Given the description of an element on the screen output the (x, y) to click on. 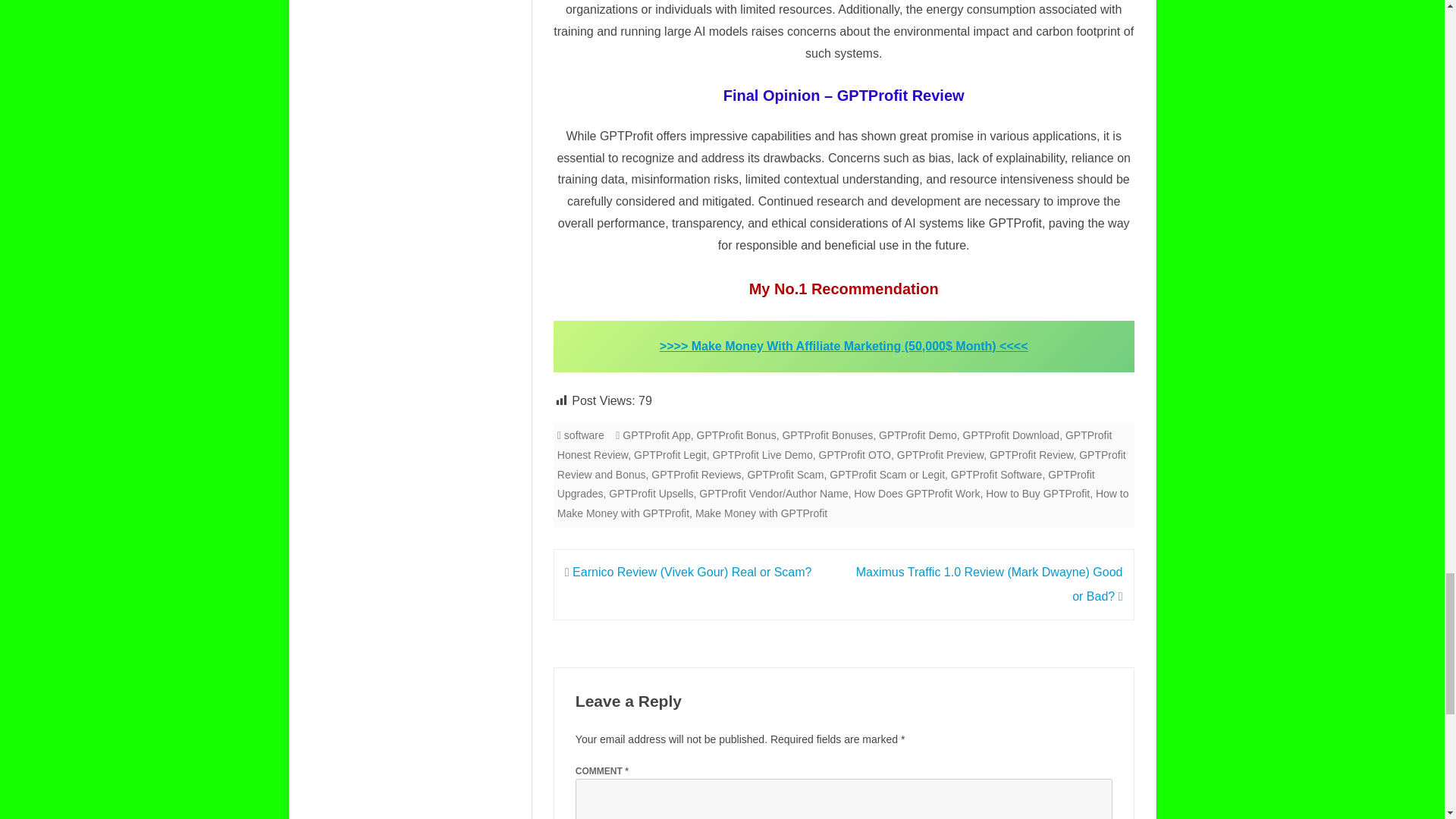
GPTProfit Download (1010, 435)
software (584, 435)
GPTProfit App (656, 435)
GPTProfit Bonus (736, 435)
GPTProfit Bonuses (826, 435)
GPTProfit Demo (917, 435)
